Given the description of an element on the screen output the (x, y) to click on. 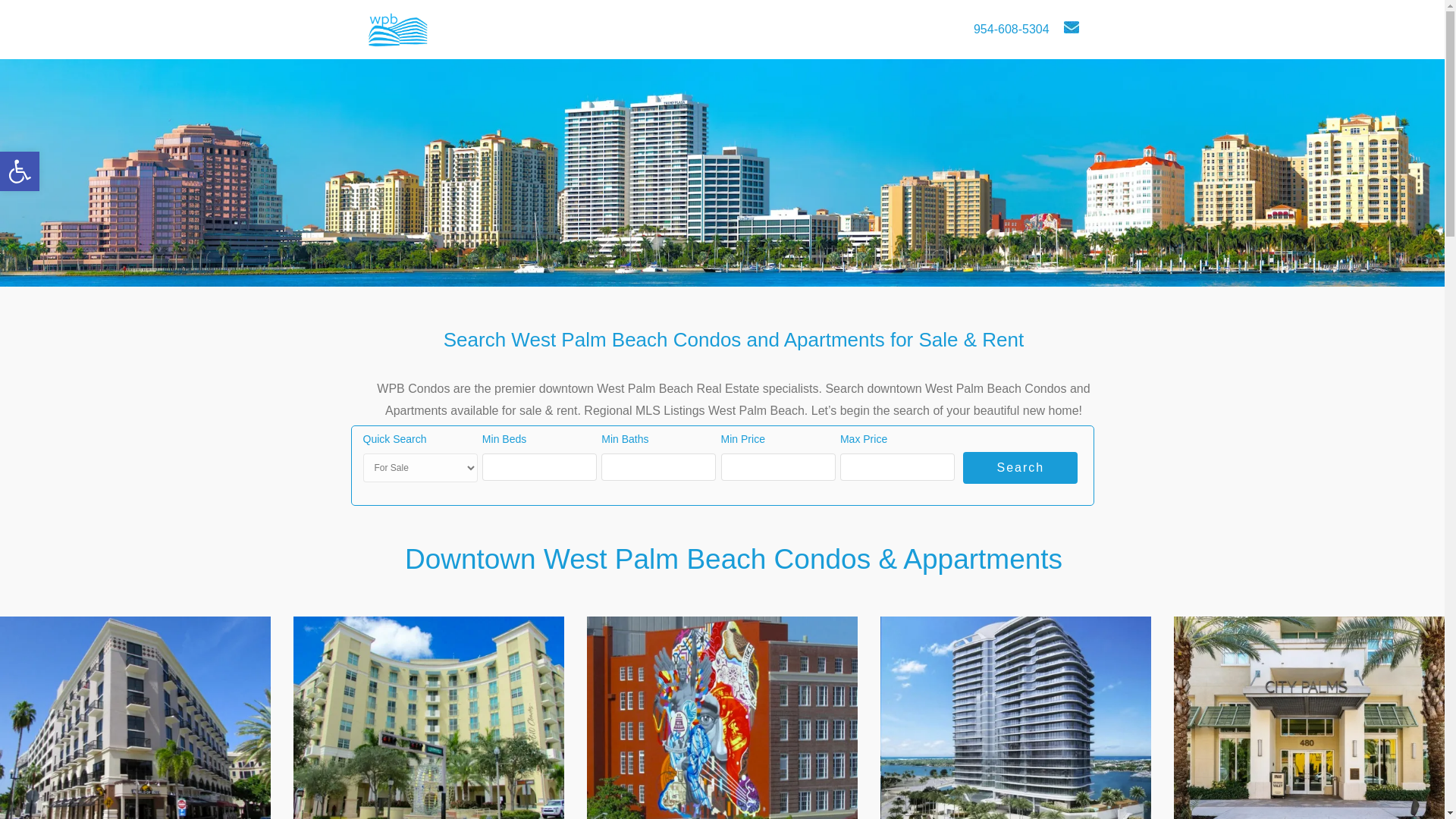
954-608-5304 (1011, 29)
Search (476, 29)
610 Clematis (429, 717)
Search (1019, 468)
Accessibility Tools (19, 170)
Accessibility Tools (19, 170)
Contact (547, 29)
The Bristol (1015, 717)
101 Lofts (19, 170)
Alexander Lofts (135, 717)
